Given the description of an element on the screen output the (x, y) to click on. 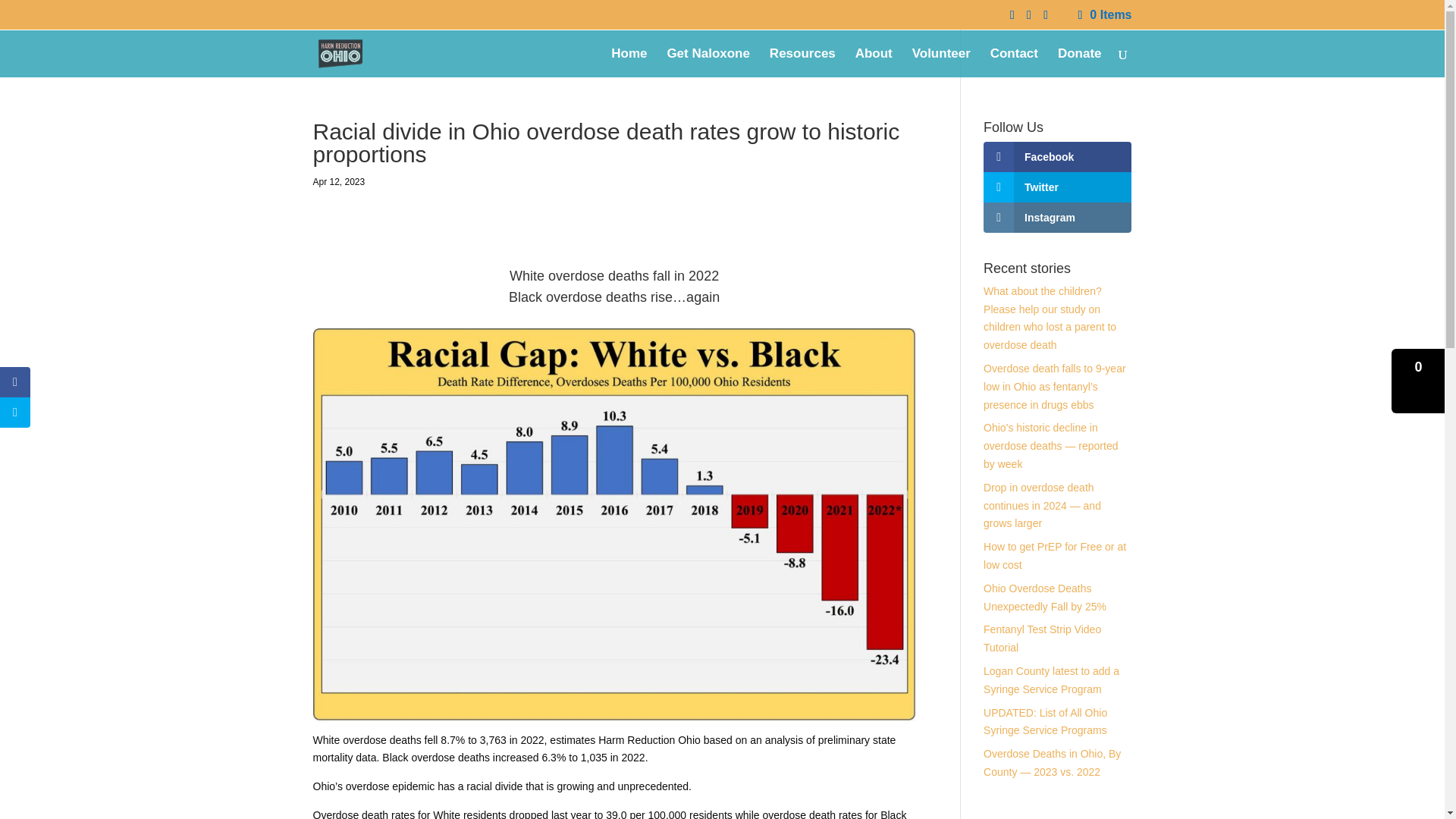
Home (628, 62)
UPDATED: List of All Ohio Syringe Service Programs (1045, 721)
Logan County latest to add a Syringe Service Program (1051, 680)
Donate (1080, 62)
Instagram (1057, 217)
Twitter (1057, 186)
Get Naloxone (707, 62)
Fentanyl Test Strip Video Tutorial (1042, 638)
How to get PrEP for Free or at low cost (1054, 555)
0 Items (1102, 14)
Contact (1014, 62)
About (874, 62)
Facebook (1057, 156)
Resources (802, 62)
